Given the description of an element on the screen output the (x, y) to click on. 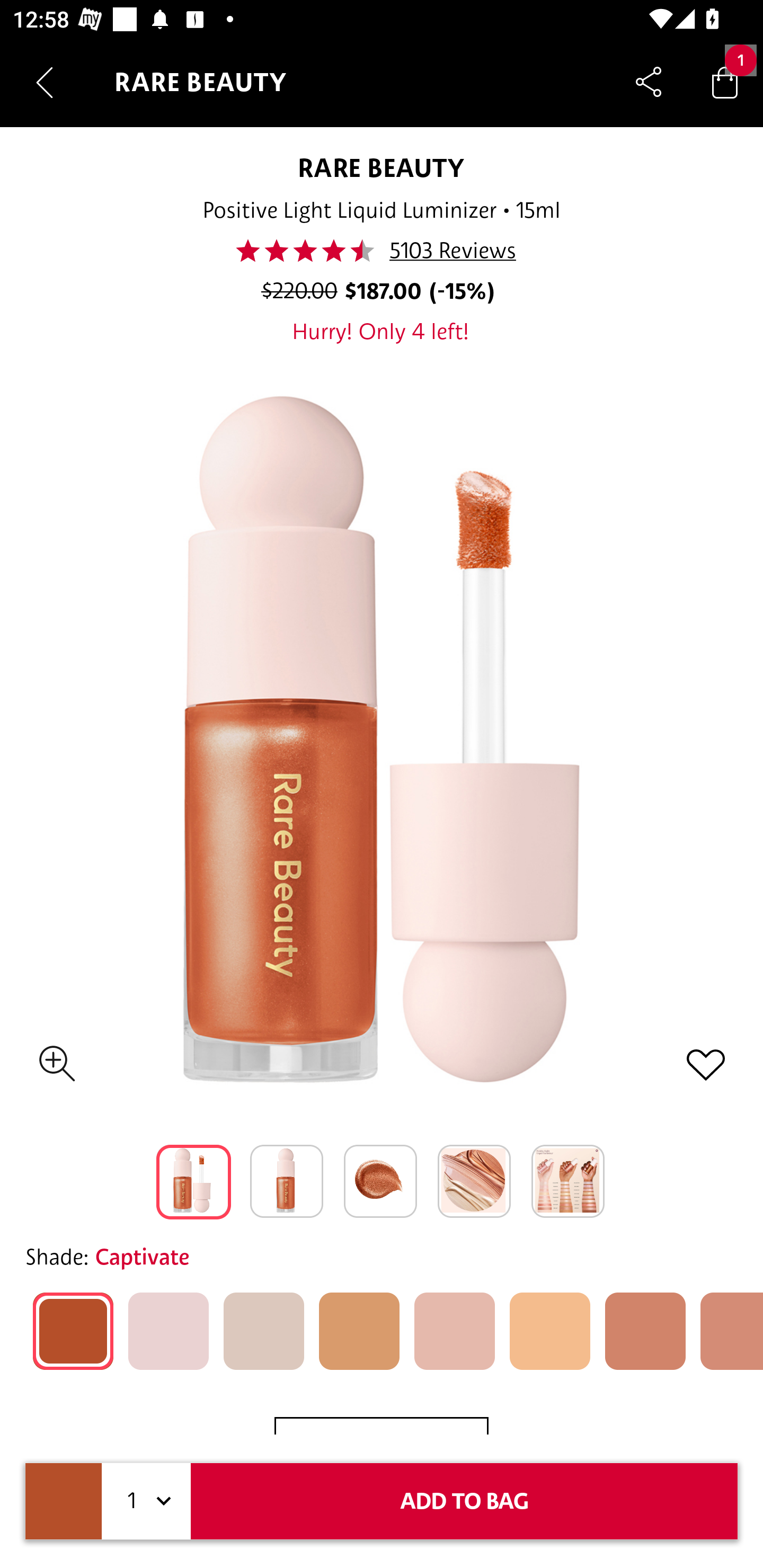
Navigate up (44, 82)
Share (648, 81)
Bag (724, 81)
RARE BEAUTY (381, 167)
45.0 5103 Reviews (380, 250)
1 (145, 1500)
ADD TO BAG (463, 1500)
